Given the description of an element on the screen output the (x, y) to click on. 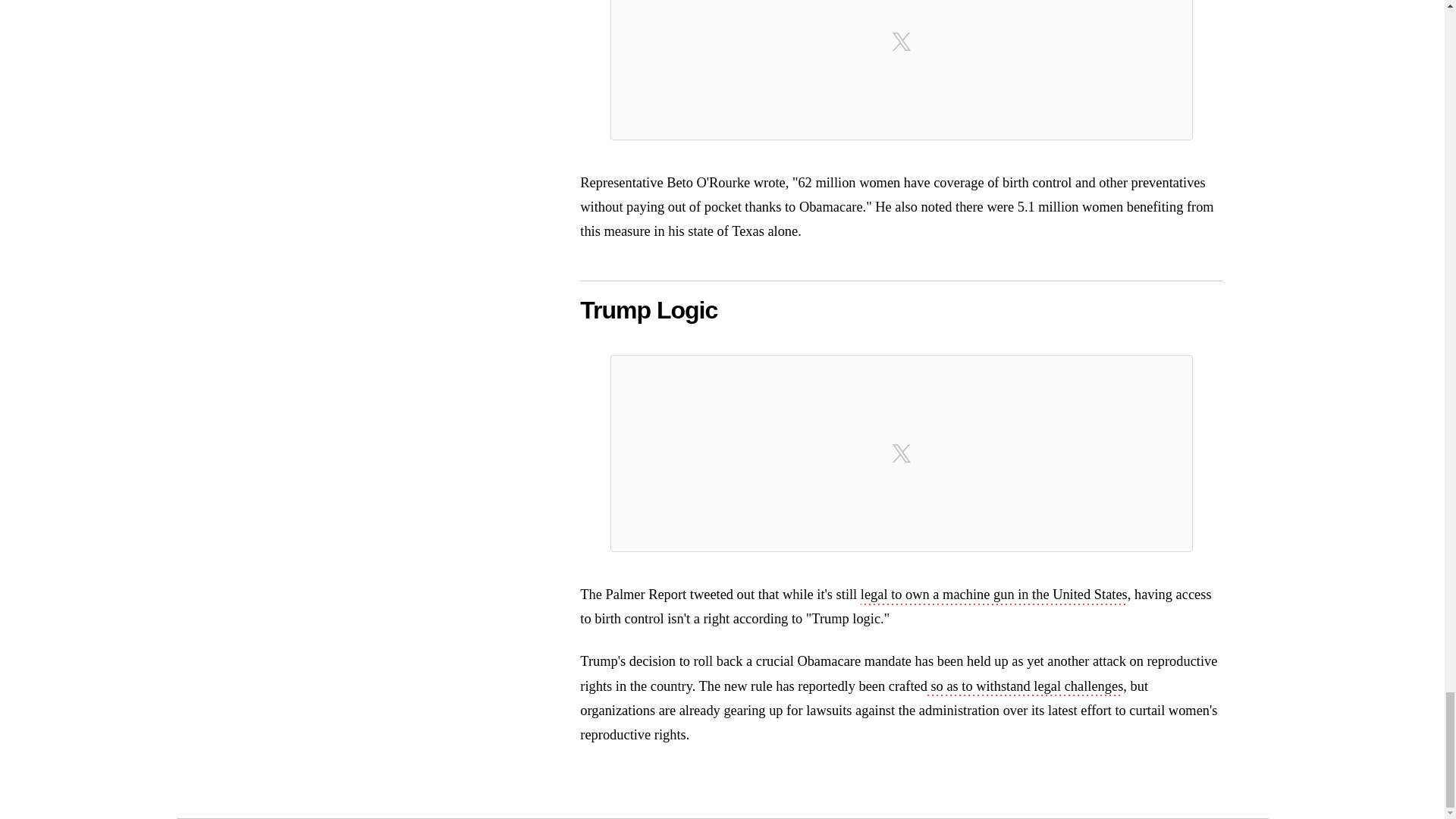
legal to own a machine gun in the United States (993, 596)
so as to withstand legal challenges (1024, 687)
